Given the description of an element on the screen output the (x, y) to click on. 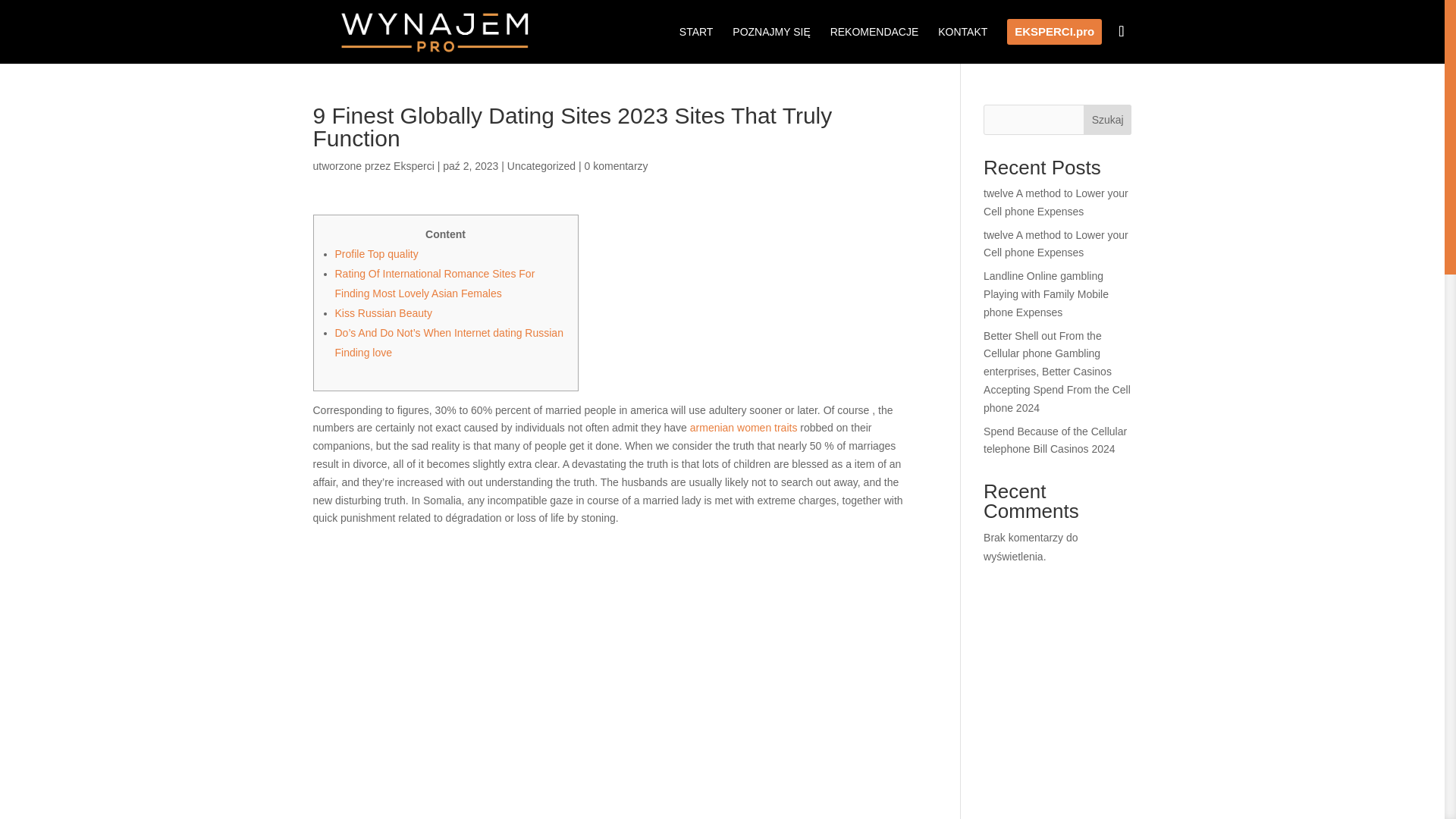
0 komentarzy (616, 165)
KONTAKT (962, 44)
REKOMENDACJE (873, 44)
Eksperci (413, 165)
twelve A method to Lower your Cell phone Expenses (1056, 244)
EKSPERCI.pro (1054, 40)
Kiss Russian Beauty (383, 313)
Profile Top quality (376, 254)
START (696, 44)
armenian women traits (743, 427)
twelve A method to Lower your Cell phone Expenses (1056, 202)
Wpisy Eksperci (413, 165)
Szukaj (1107, 119)
